Given the description of an element on the screen output the (x, y) to click on. 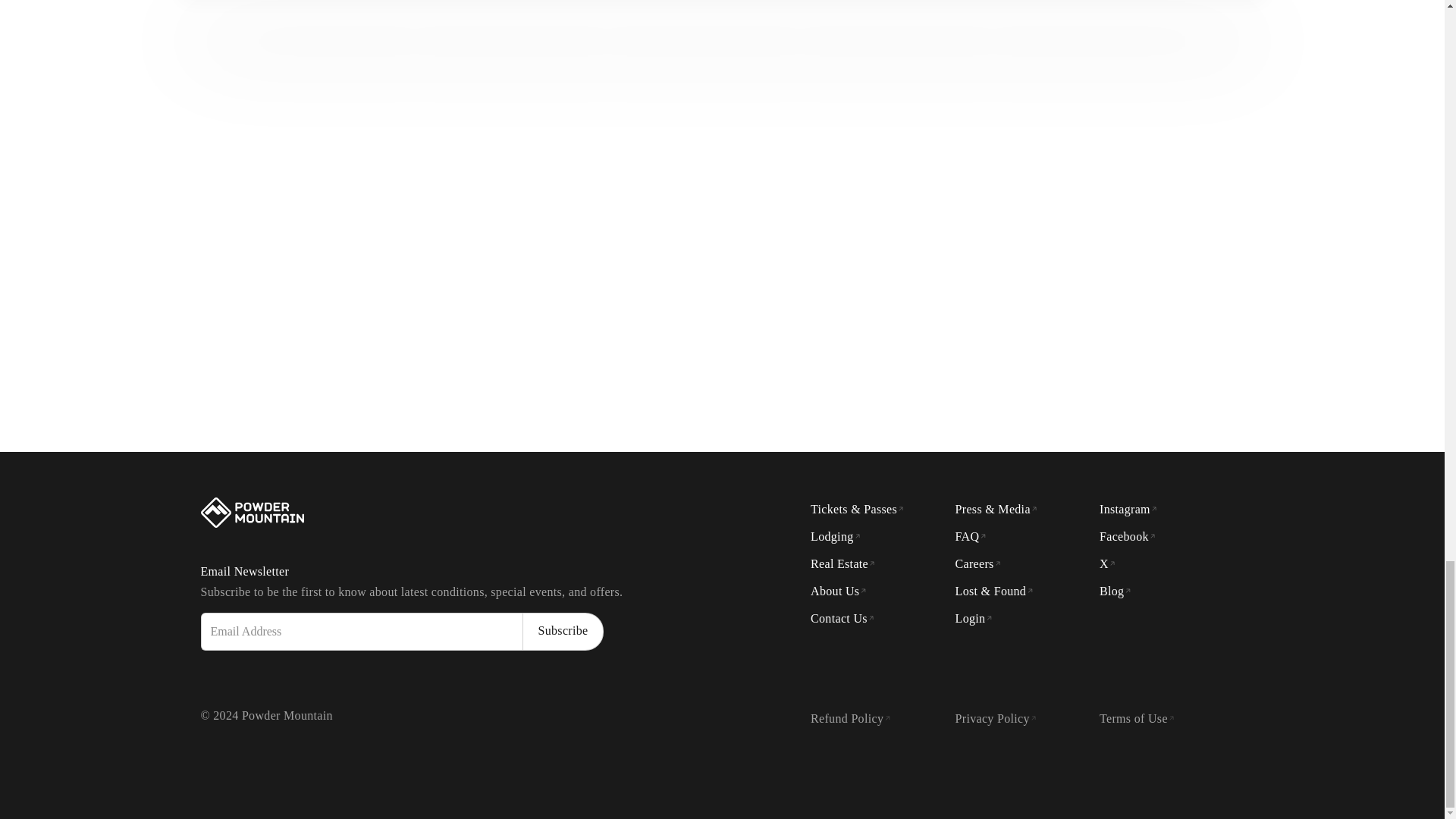
Privacy Policy (995, 718)
Lodging (835, 536)
Real Estate (843, 563)
Subscribe (562, 631)
Instagram (1128, 509)
About Us (838, 591)
Facebook (1127, 536)
Contact Us (842, 618)
Blog (1115, 591)
Login (973, 618)
